Given the description of an element on the screen output the (x, y) to click on. 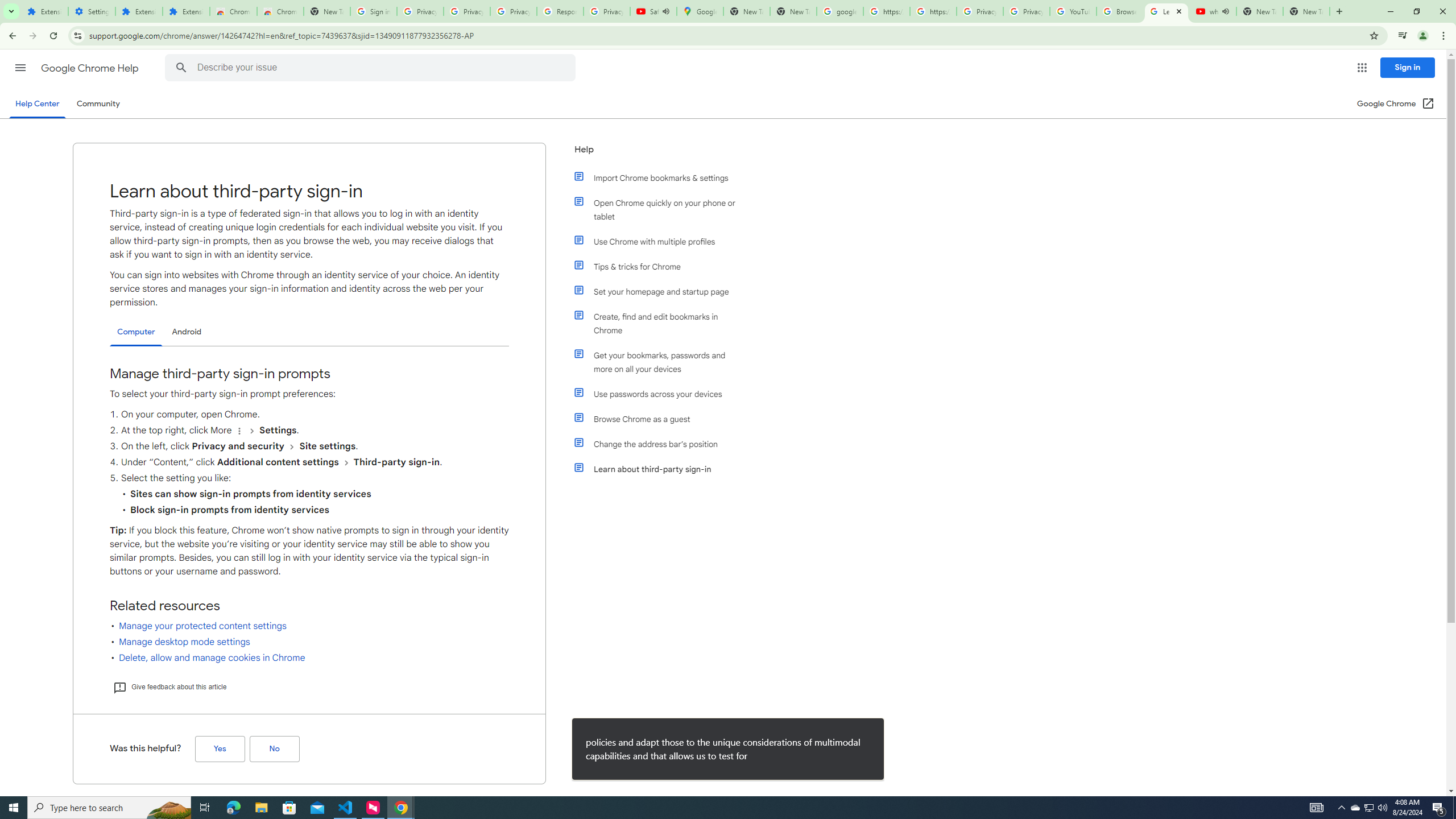
Android (186, 331)
Settings (91, 11)
Describe your issue (371, 67)
Mute tab (1225, 10)
Sign in - Google Accounts (373, 11)
